Given the description of an element on the screen output the (x, y) to click on. 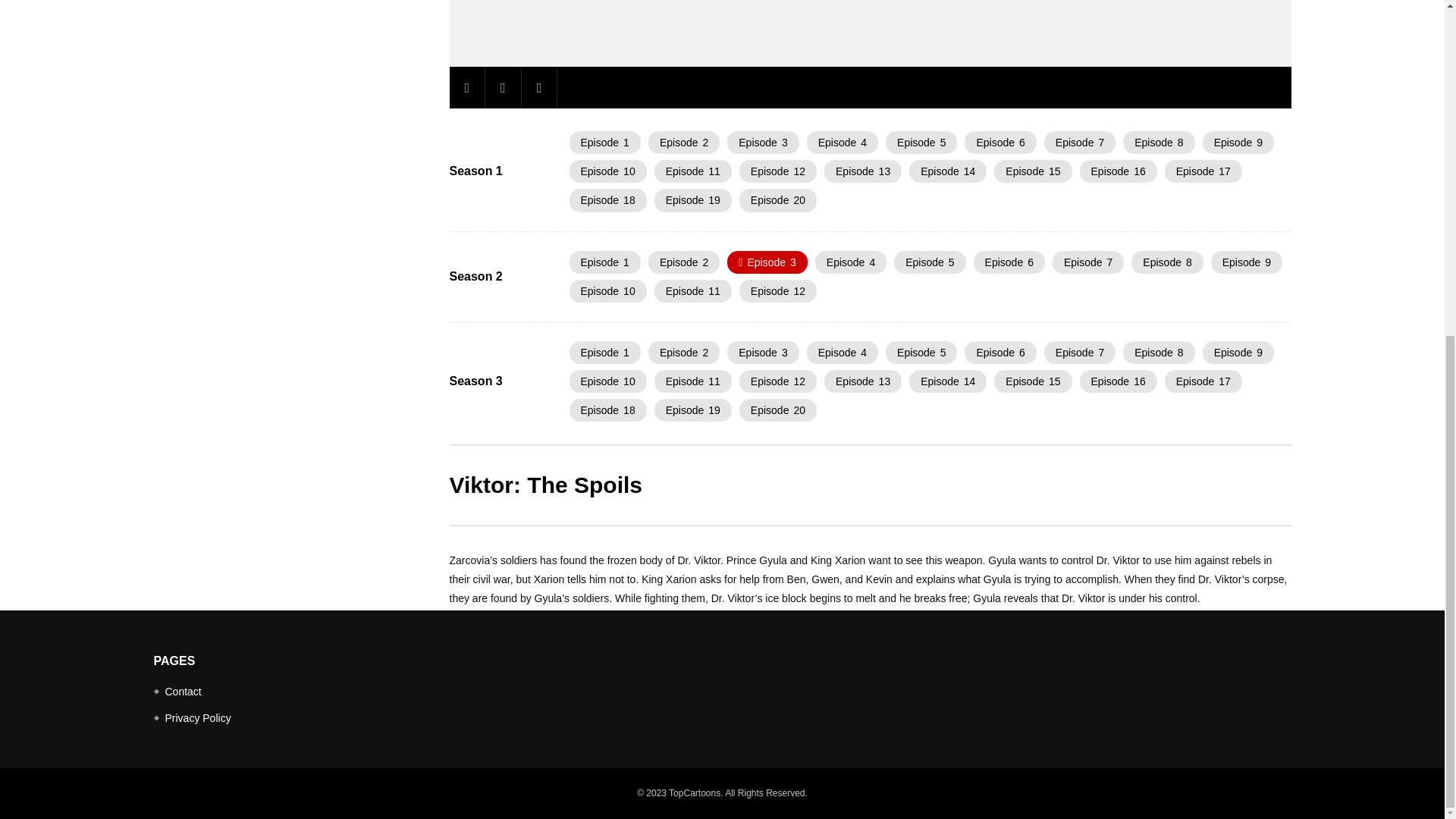
Episode10 (607, 170)
Deep (862, 170)
Episode9 (1238, 142)
Escape From Aggregor (920, 142)
Episode11 (692, 170)
Episode6 (1009, 261)
Episode2 (683, 142)
Where The Magic Happens (947, 170)
Episode1 (604, 142)
Ultimate Aggregor (607, 170)
